Given the description of an element on the screen output the (x, y) to click on. 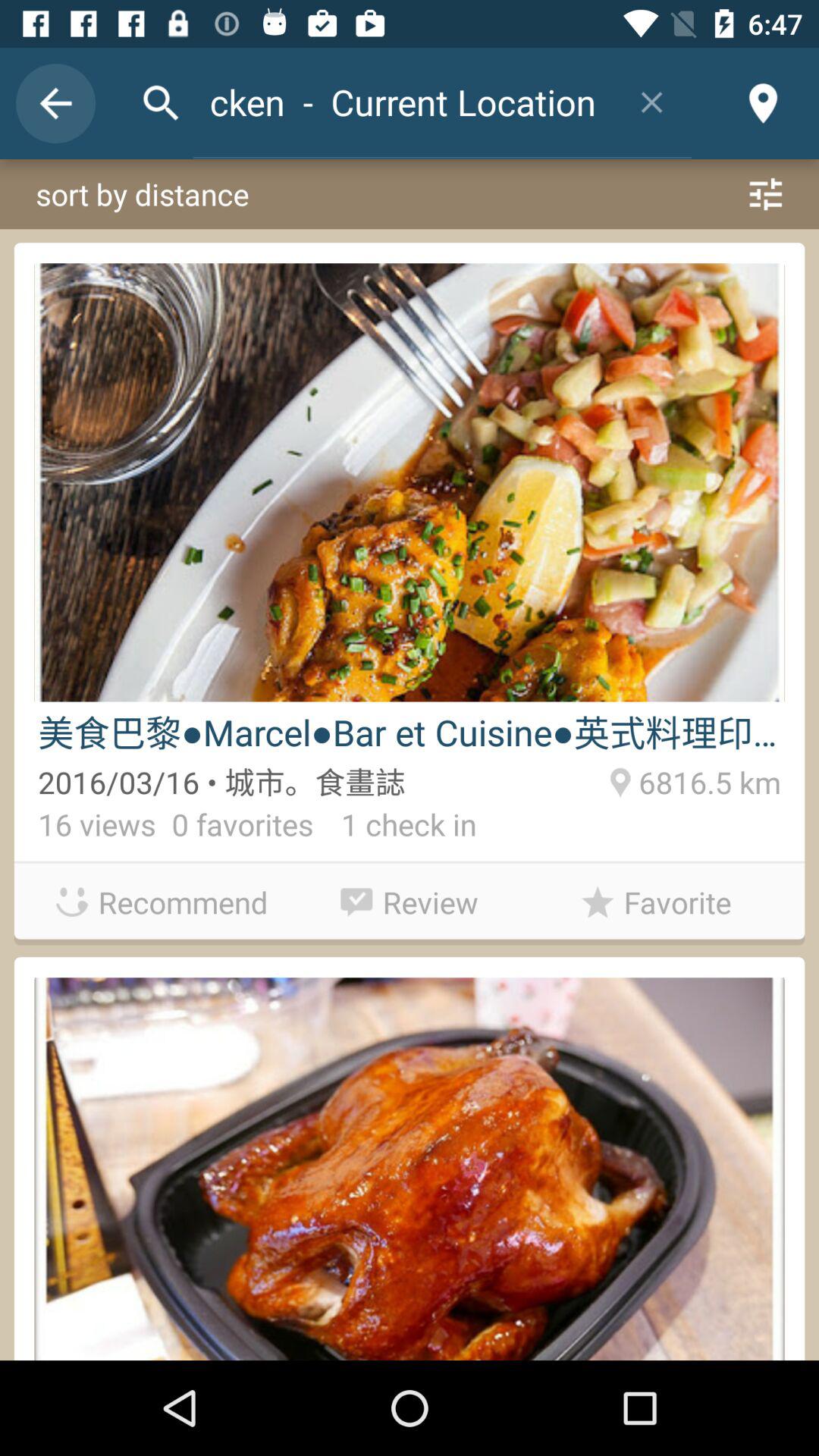
scroll until the 6816.5 km (706, 780)
